Given the description of an element on the screen output the (x, y) to click on. 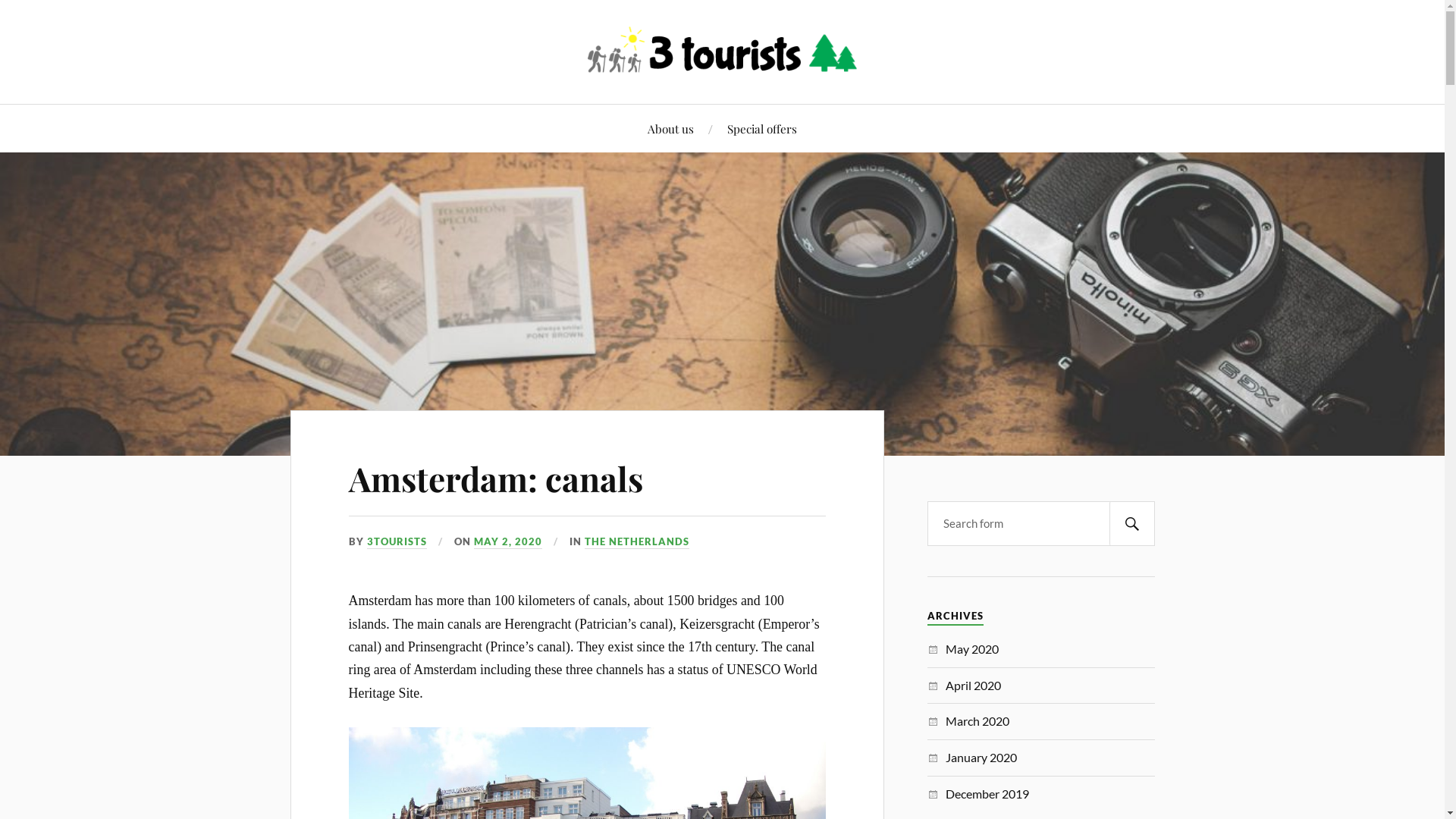
Amsterdam: canals Element type: text (495, 477)
December 2019 Element type: text (987, 793)
Special offers Element type: text (762, 128)
THE NETHERLANDS Element type: text (636, 542)
March 2020 Element type: text (977, 720)
May 2020 Element type: text (971, 648)
April 2020 Element type: text (973, 684)
About us Element type: text (670, 128)
January 2020 Element type: text (980, 756)
MAY 2, 2020 Element type: text (507, 542)
3TOURISTS Element type: text (396, 542)
